Given the description of an element on the screen output the (x, y) to click on. 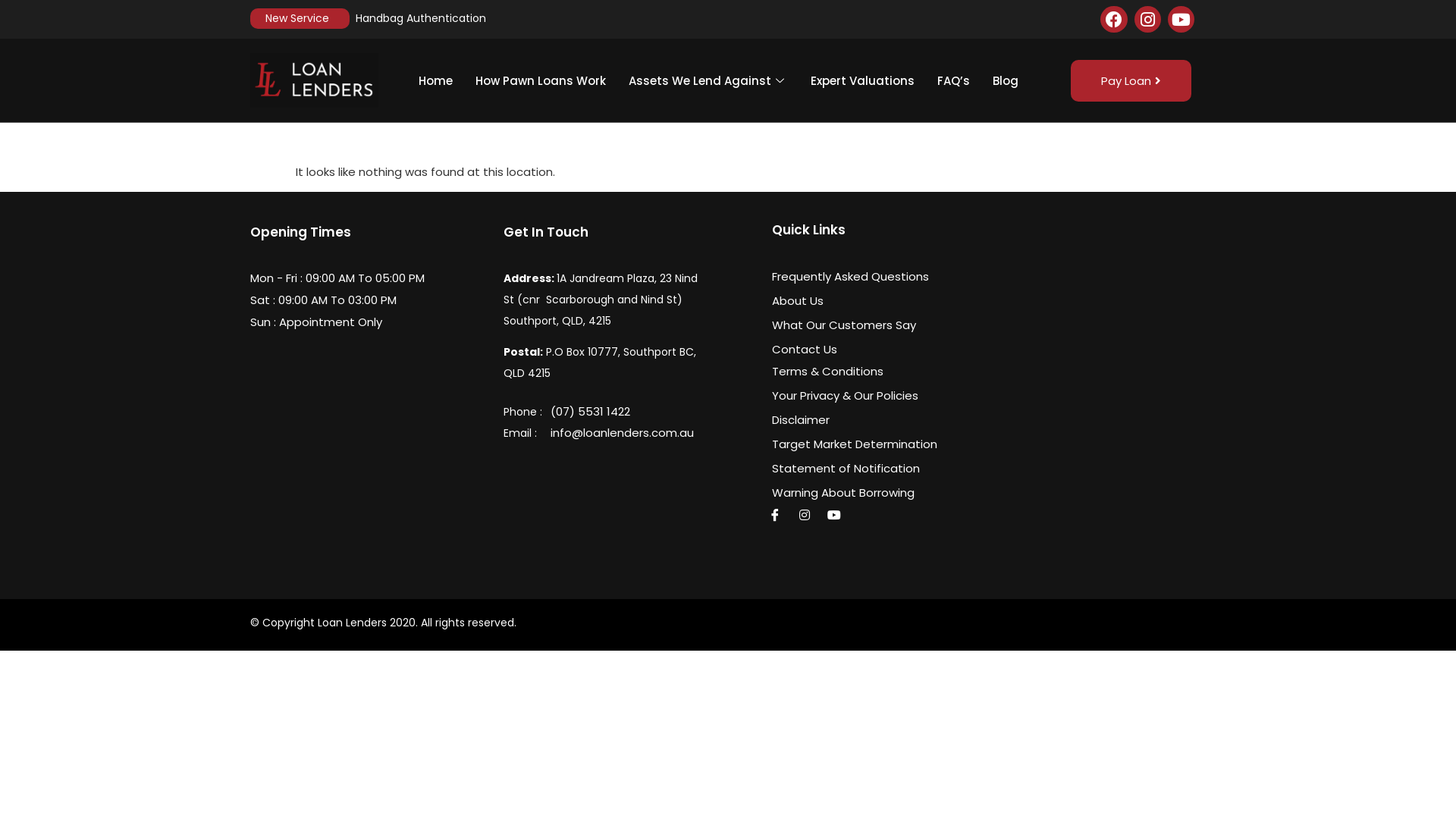
How Pawn Loans Work Element type: text (540, 80)
Your Privacy & Our Policies Element type: text (865, 395)
Handbag Authentication Element type: text (420, 17)
Statement of Notification Element type: text (865, 468)
What Our Customers Say Element type: text (865, 324)
Warning About Borrowing Element type: text (865, 492)
Expert Valuations Element type: text (862, 80)
Terms & Conditions Element type: text (865, 370)
info@loanlenders.com.au Element type: text (657, 432)
Blog Element type: text (1005, 80)
(07) 5531 1422 Element type: text (657, 411)
Pay Loan Element type: text (1130, 79)
Home Element type: text (435, 80)
Disclaimer Element type: text (865, 419)
Contact Us Element type: text (865, 348)
Target Market Determination Element type: text (865, 443)
About Us Element type: text (865, 300)
Frequently Asked Questions Element type: text (865, 276)
Assets We Lend Against Element type: text (708, 80)
1A Jandream Plaza 23 Nind St  Southport, QLD, 4215 Element type: hover (1086, 343)
